Given the description of an element on the screen output the (x, y) to click on. 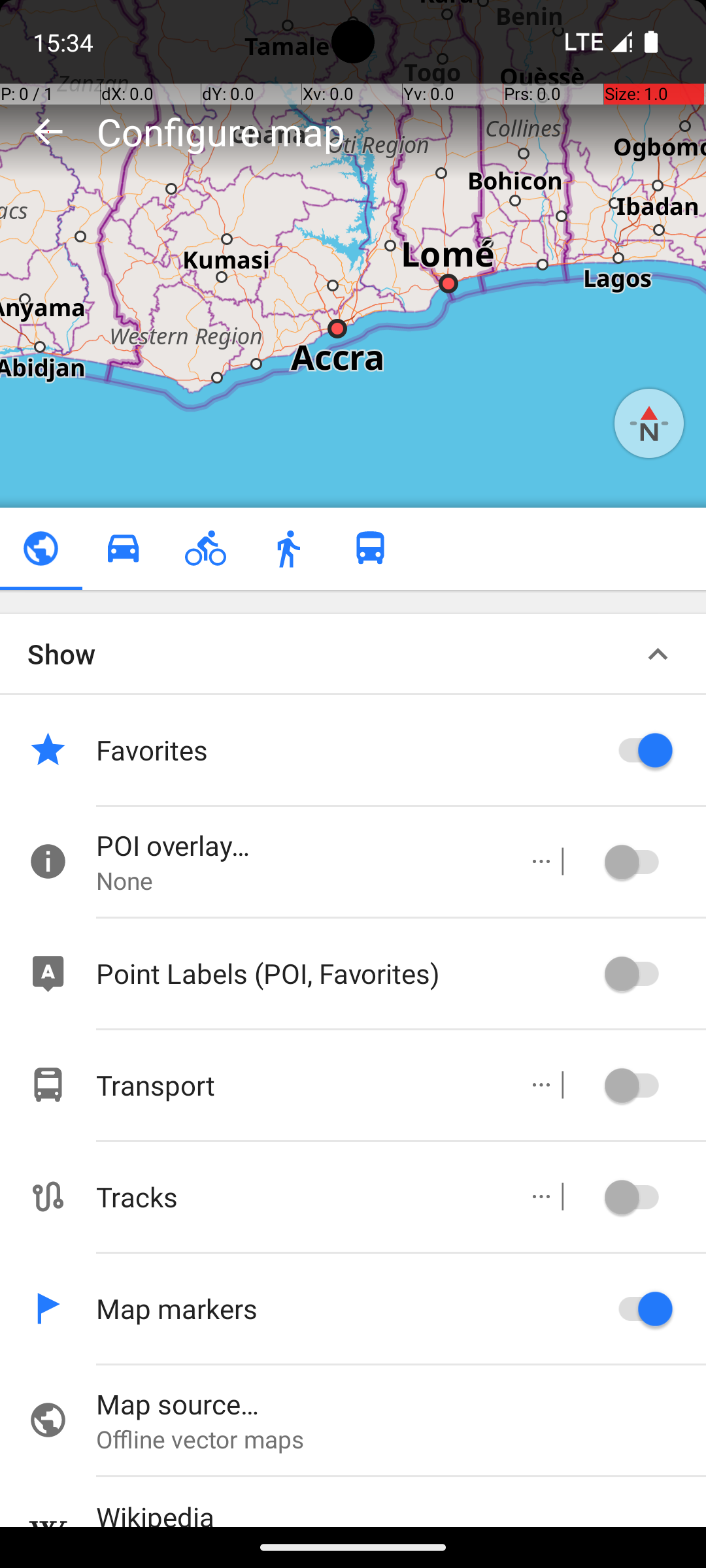
Back to map Element type: android.widget.ImageButton (48, 131)
Configure map Element type: android.widget.TextView (220, 130)
North is up Element type: android.widget.ImageButton (649, 423)
Browse map checked Element type: android.widget.ImageView (40, 548)
Driving unchecked Element type: android.widget.ImageView (122, 548)
Cycling unchecked Element type: android.widget.ImageView (205, 548)
Walking unchecked Element type: android.widget.ImageView (287, 548)
Public transport unchecked Element type: android.widget.ImageView (369, 548)
Show Element type: android.widget.TextView (61, 653)
Favorites Element type: android.widget.TextView (346, 749)
POI overlay… Element type: android.widget.TextView (298, 844)
Point Labels (POI, Favorites) Element type: android.widget.TextView (346, 972)
Transport Element type: android.widget.TextView (298, 1084)
Tracks Element type: android.widget.TextView (298, 1196)
Map markers Element type: android.widget.TextView (346, 1307)
Map source… Element type: android.widget.TextView (401, 1403)
Offline vector maps Element type: android.widget.TextView (401, 1438)
Wikipedia Element type: android.widget.TextView (401, 1512)
